Given the description of an element on the screen output the (x, y) to click on. 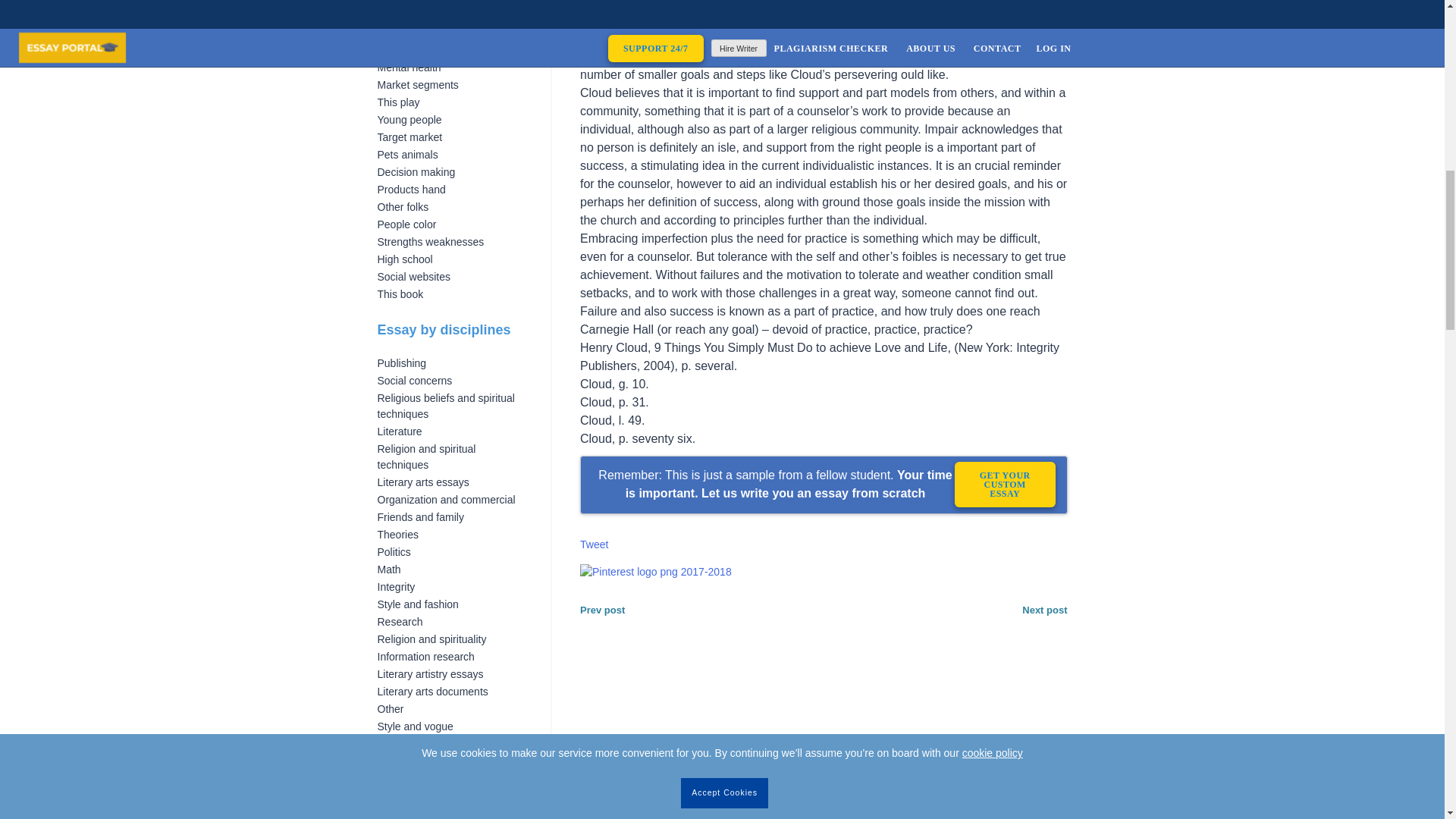
Their (389, 32)
Tragic hero (403, 2)
Thing (390, 15)
